Given the description of an element on the screen output the (x, y) to click on. 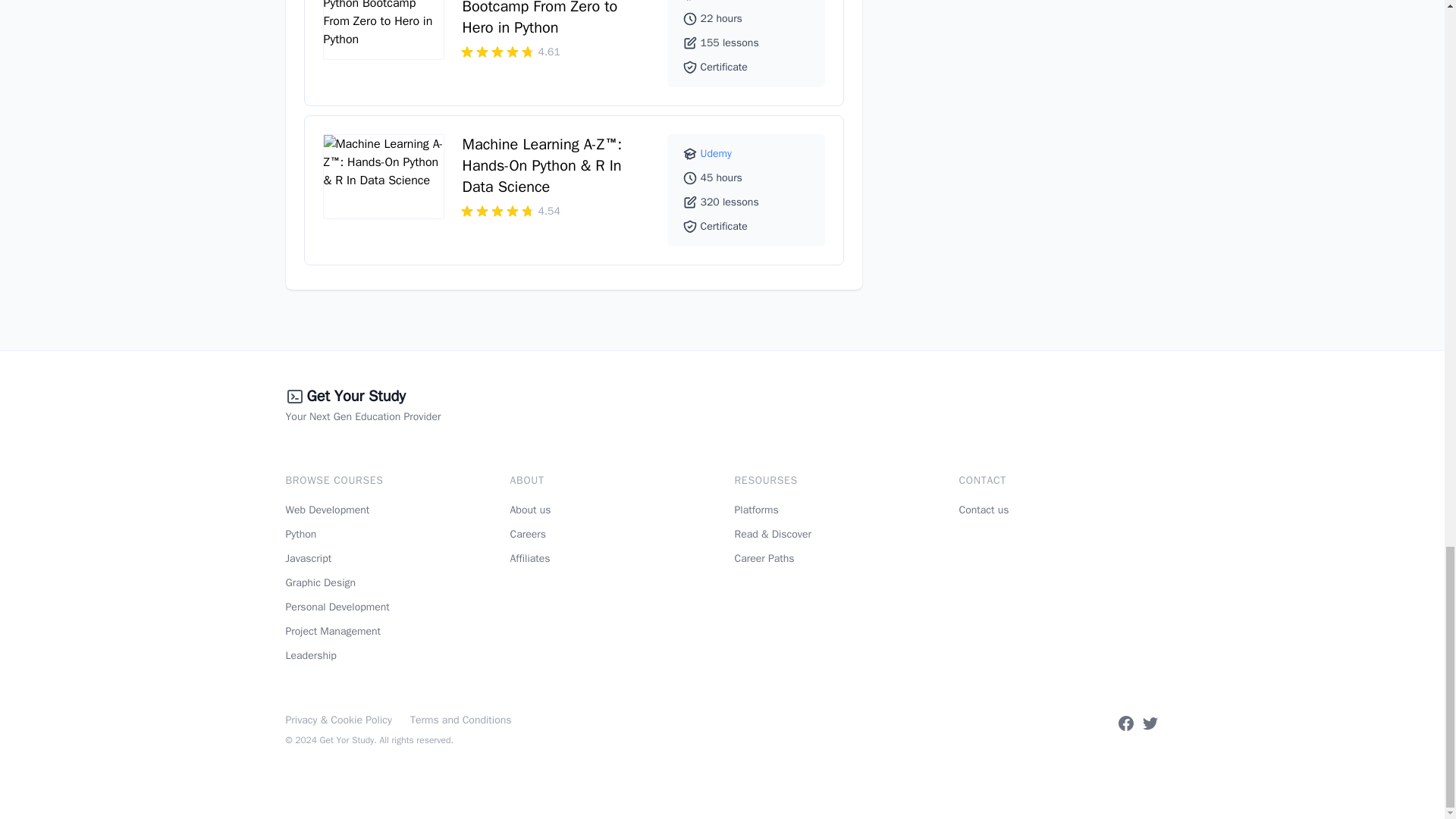
Get Your Study (354, 396)
Udemy (716, 153)
2022 Complete Python Bootcamp From Zero to Hero in Python (540, 18)
